Given the description of an element on the screen output the (x, y) to click on. 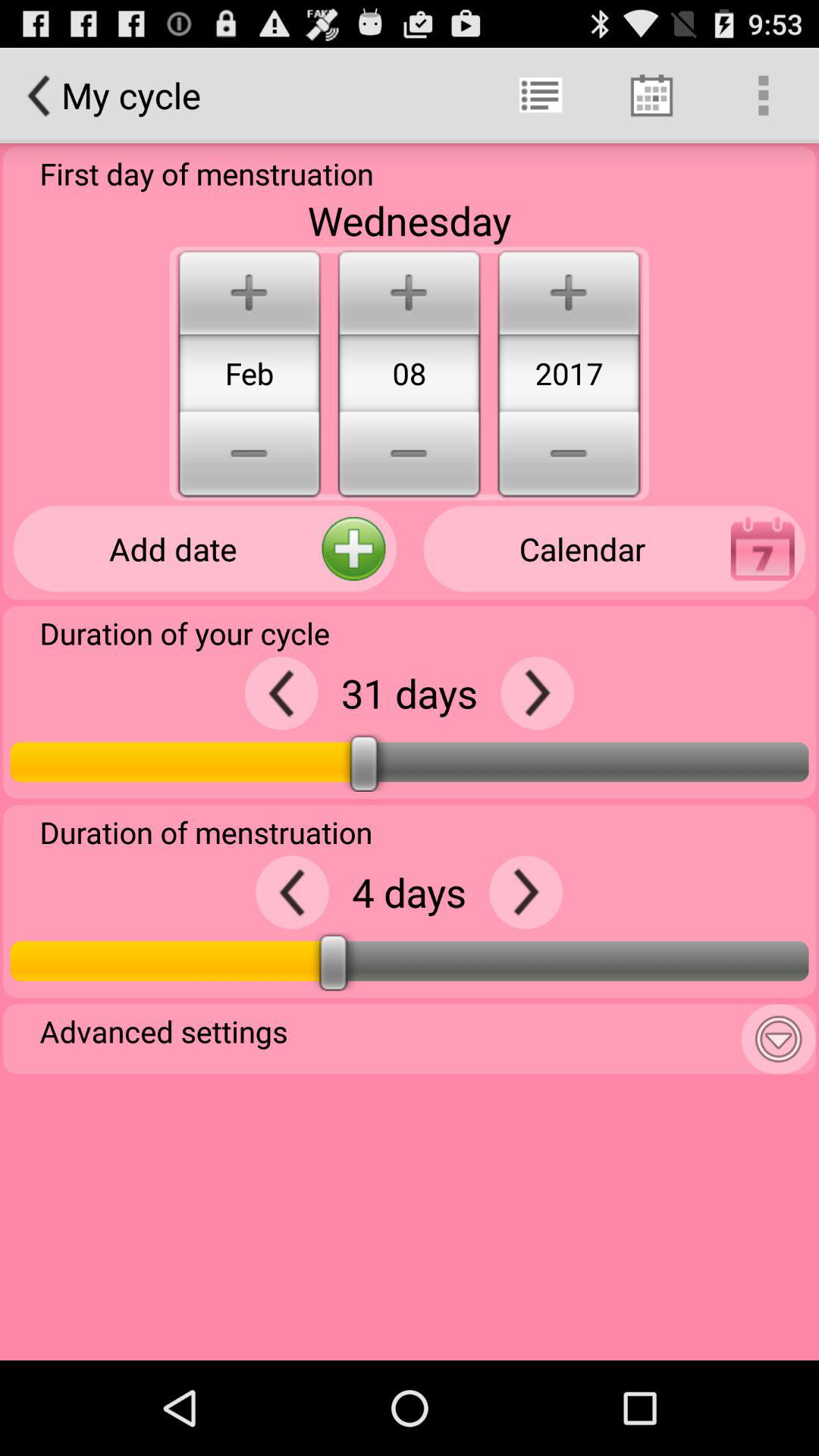
right arrow button (537, 693)
